Given the description of an element on the screen output the (x, y) to click on. 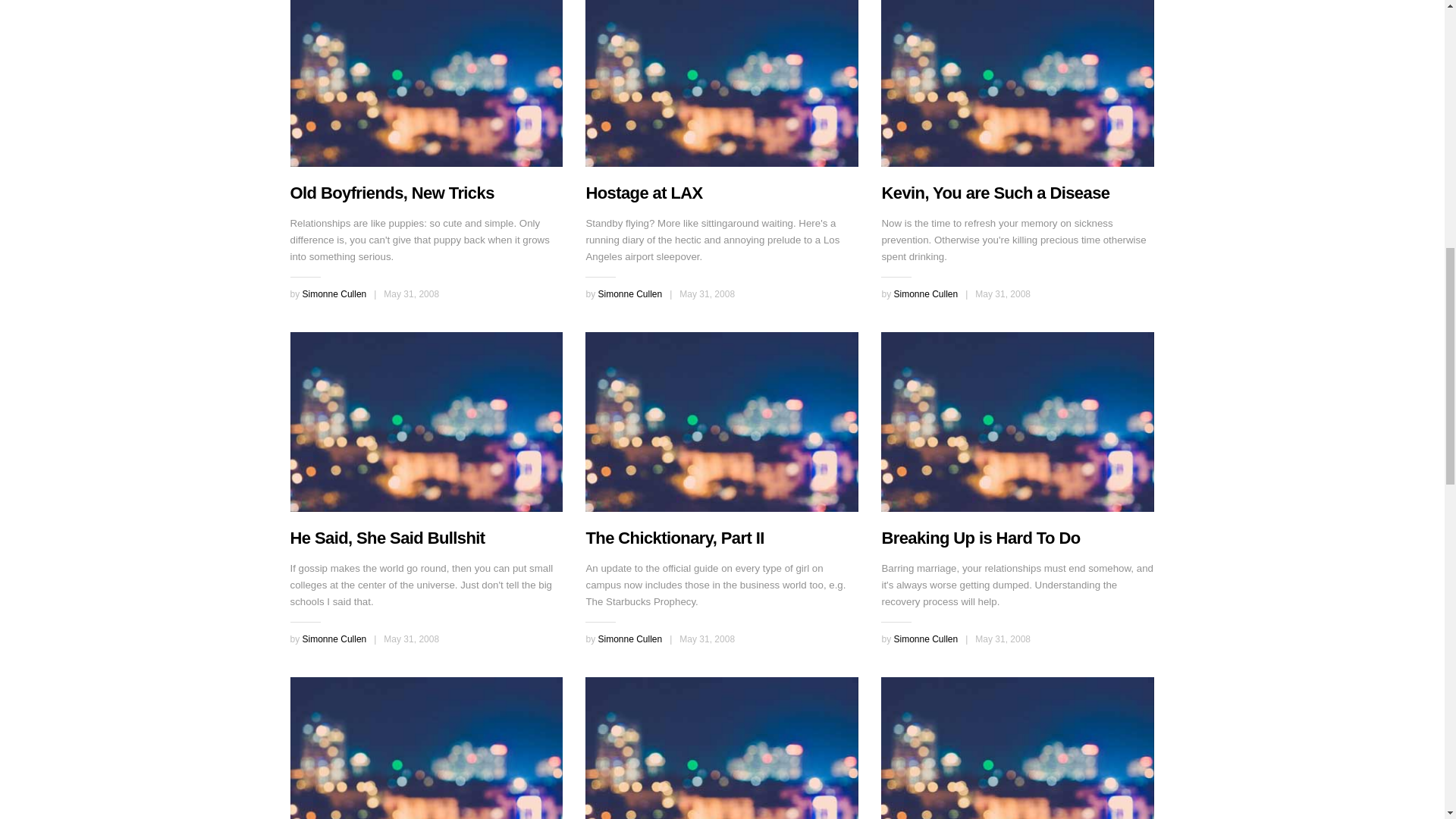
Kevin, You are Such a Disease (994, 192)
Simonne Cullen (334, 294)
Posts by Simonne Cullen (334, 638)
Simonne Cullen (629, 638)
He Said, She Said Bullshit (386, 537)
Breaking Up is Hard To Do (980, 537)
Posts by Simonne Cullen (629, 294)
Simonne Cullen (925, 638)
Simonne Cullen (334, 638)
The Chicktionary, Part II (722, 421)
Old Boyfriends, New Tricks (391, 192)
Hostage at LAX (643, 192)
Old Boyfriends, New Tricks (425, 83)
Posts by Simonne Cullen (629, 638)
Simonne Cullen (925, 294)
